Given the description of an element on the screen output the (x, y) to click on. 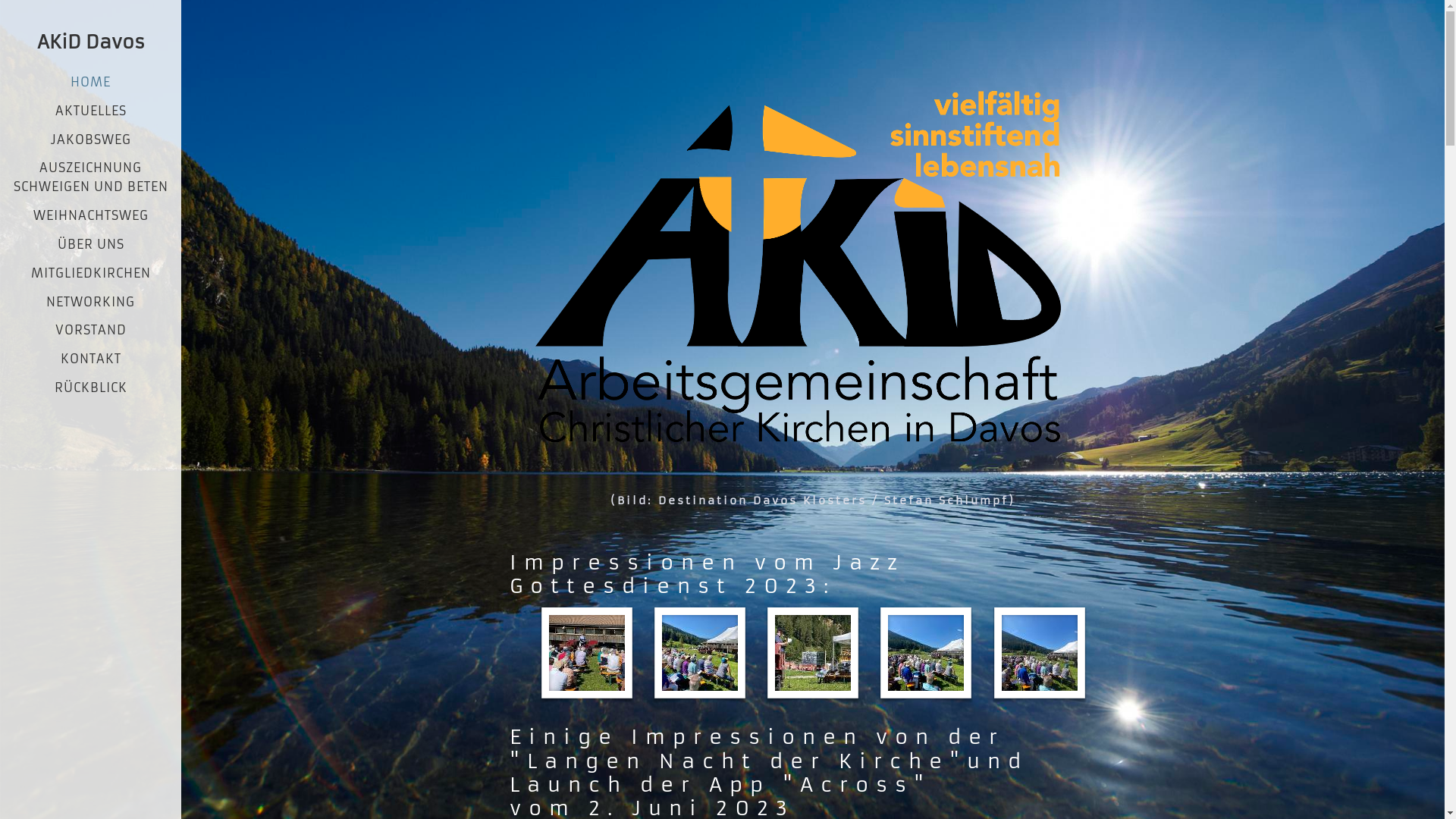
AKTUELLES Element type: text (90, 110)
JAKOBSWEG Element type: text (90, 139)
MITGLIEDKIRCHEN Element type: text (90, 272)
AKiD Davos Element type: text (90, 42)
VORSTAND Element type: text (90, 329)
AUSZEICHNUNG SCHWEIGEN UND BETEN Element type: text (90, 177)
KONTAKT Element type: text (90, 358)
HOME Element type: text (90, 81)
WEIHNACHTSWEG Element type: text (90, 214)
NETWORKING Element type: text (90, 301)
